Given the description of an element on the screen output the (x, y) to click on. 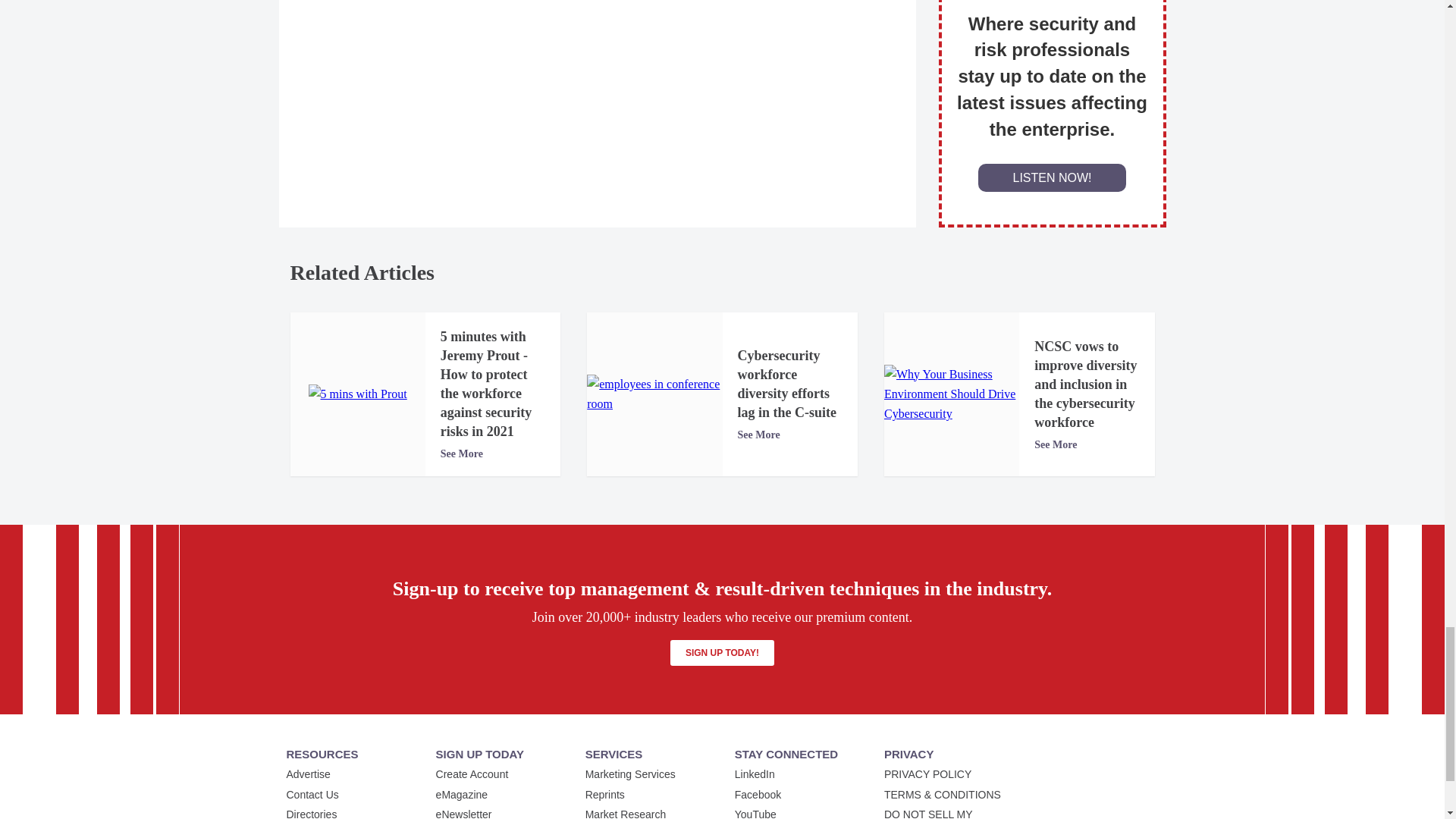
christina-wocintechchat-com-l6iKdDtkirk-unsplash.jpg (654, 394)
Why Your Business Environment Should Drive Cybersecurity (951, 394)
